Given the description of an element on the screen output the (x, y) to click on. 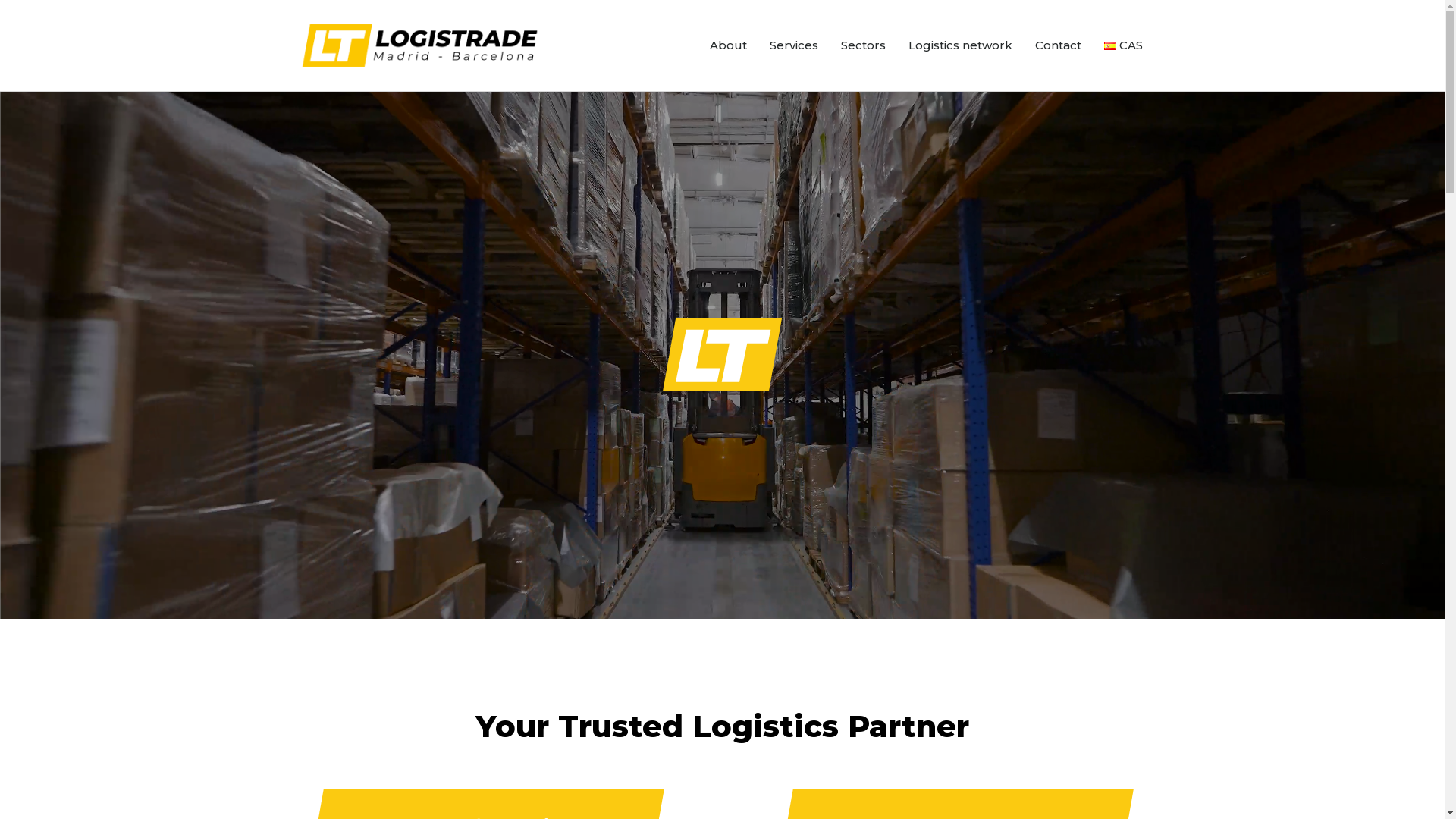
About Element type: text (728, 45)
Logistics network Element type: text (960, 45)
Sectors Element type: text (863, 45)
CAS Element type: text (1123, 45)
Services Element type: text (793, 45)
Contact Element type: text (1057, 45)
